Given the description of an element on the screen output the (x, y) to click on. 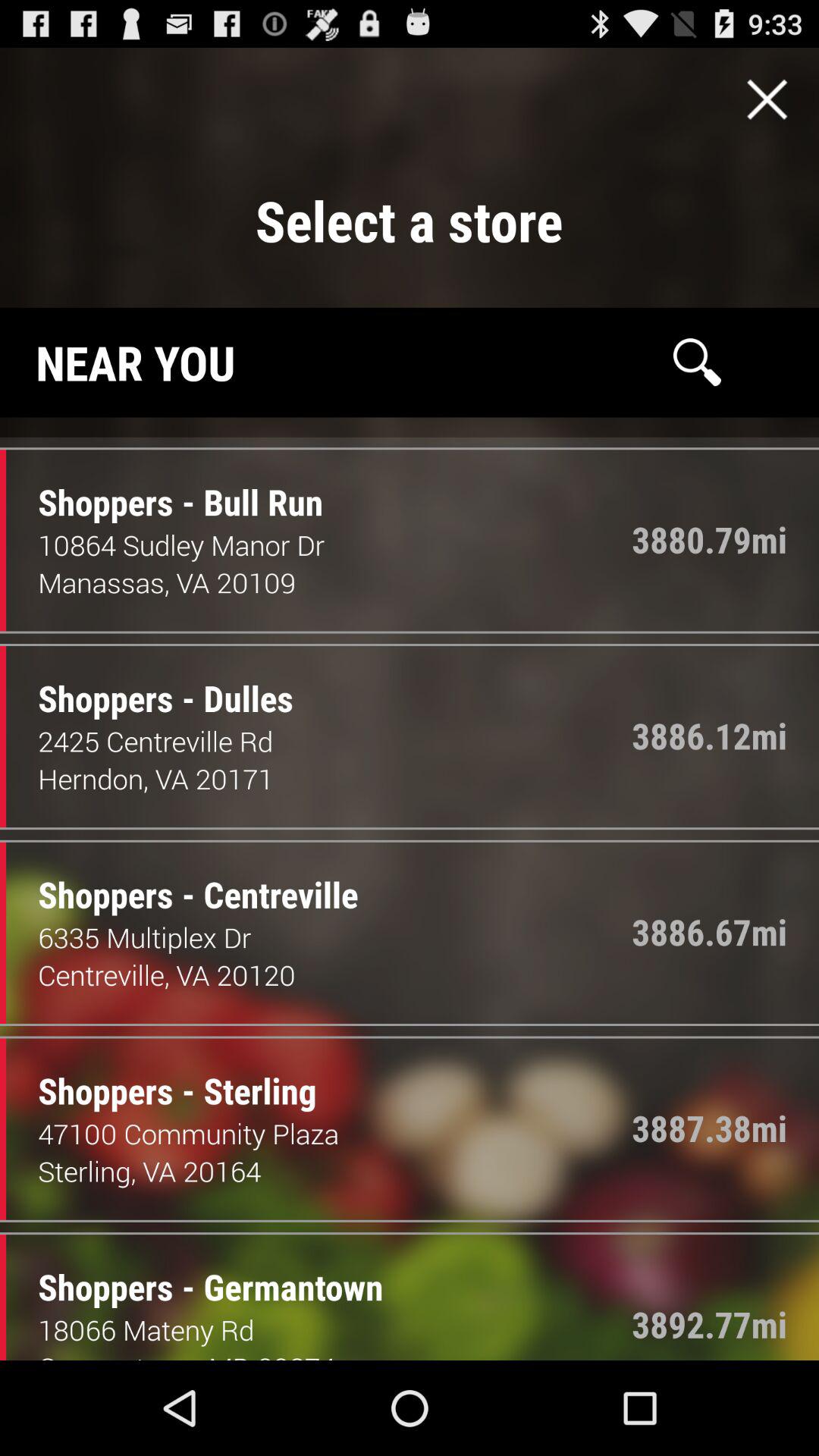
flip until 10864 sudley manor item (334, 544)
